Given the description of an element on the screen output the (x, y) to click on. 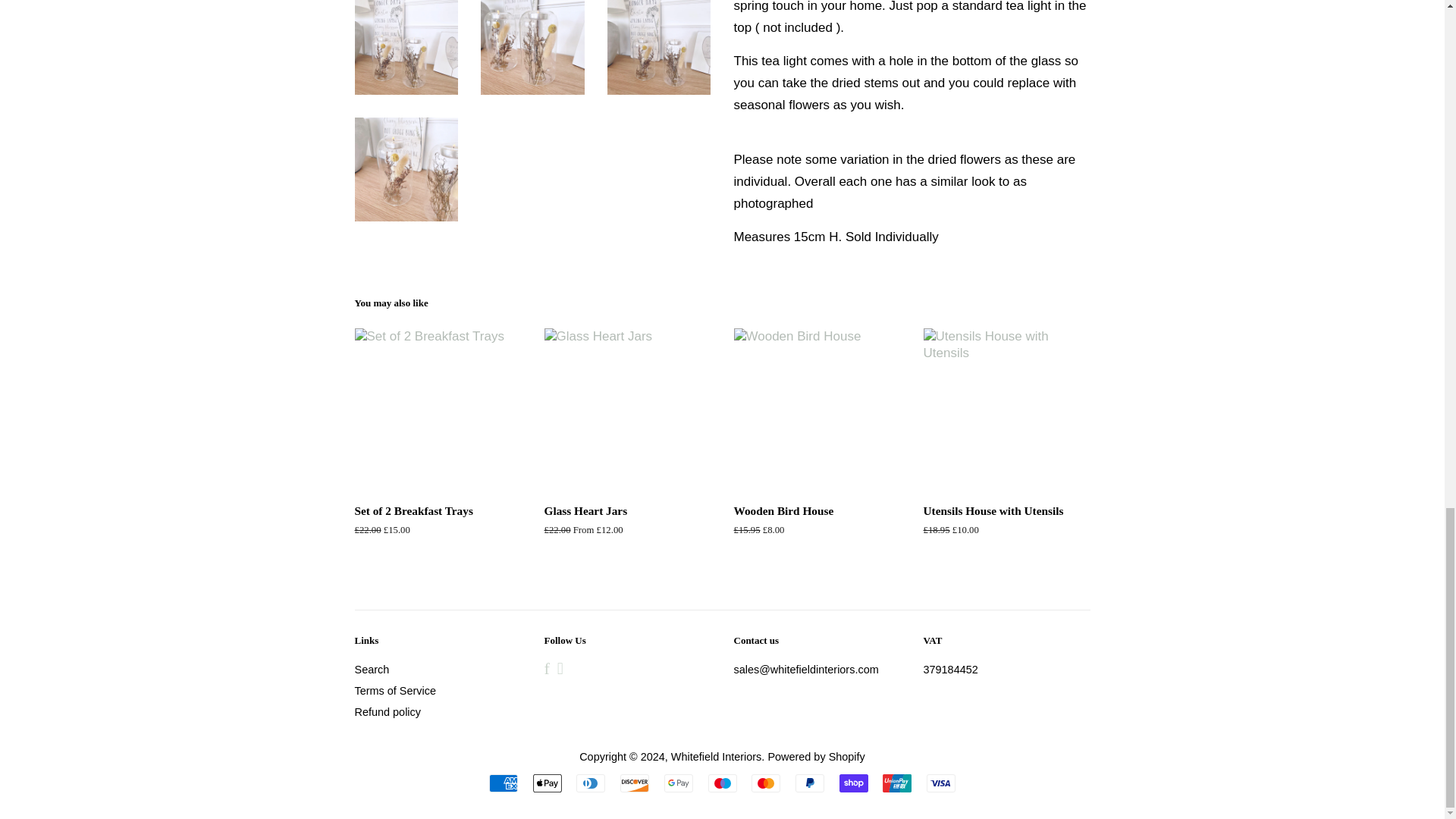
Apple Pay (547, 782)
Discover (634, 782)
Mastercard (765, 782)
Maestro (721, 782)
Union Pay (896, 782)
Diners Club (590, 782)
PayPal (809, 782)
Google Pay (678, 782)
Visa (940, 782)
Shop Pay (853, 782)
American Express (503, 782)
